Given the description of an element on the screen output the (x, y) to click on. 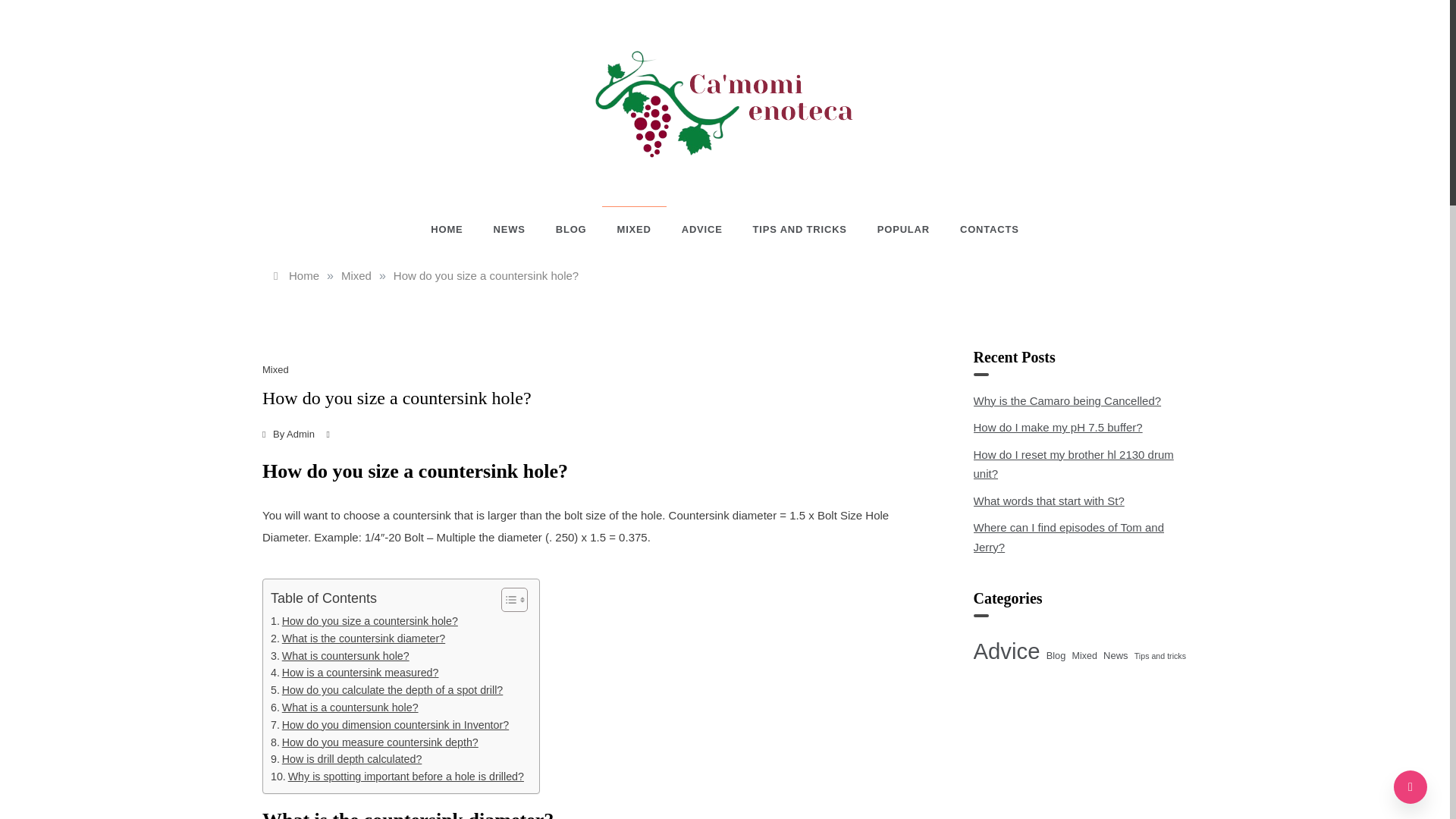
Go to Top (1409, 786)
What is countersunk hole? (339, 656)
How do you calculate the depth of a spot drill? (386, 690)
Camomienoteca.com (747, 183)
Why is spotting important before a hole is drilled? (397, 776)
How do you size a countersink hole? (485, 275)
How do you size a countersink hole? (364, 620)
What is a countersunk hole? (344, 707)
What is a countersunk hole? (344, 707)
What is the countersink diameter? (357, 638)
